Given the description of an element on the screen output the (x, y) to click on. 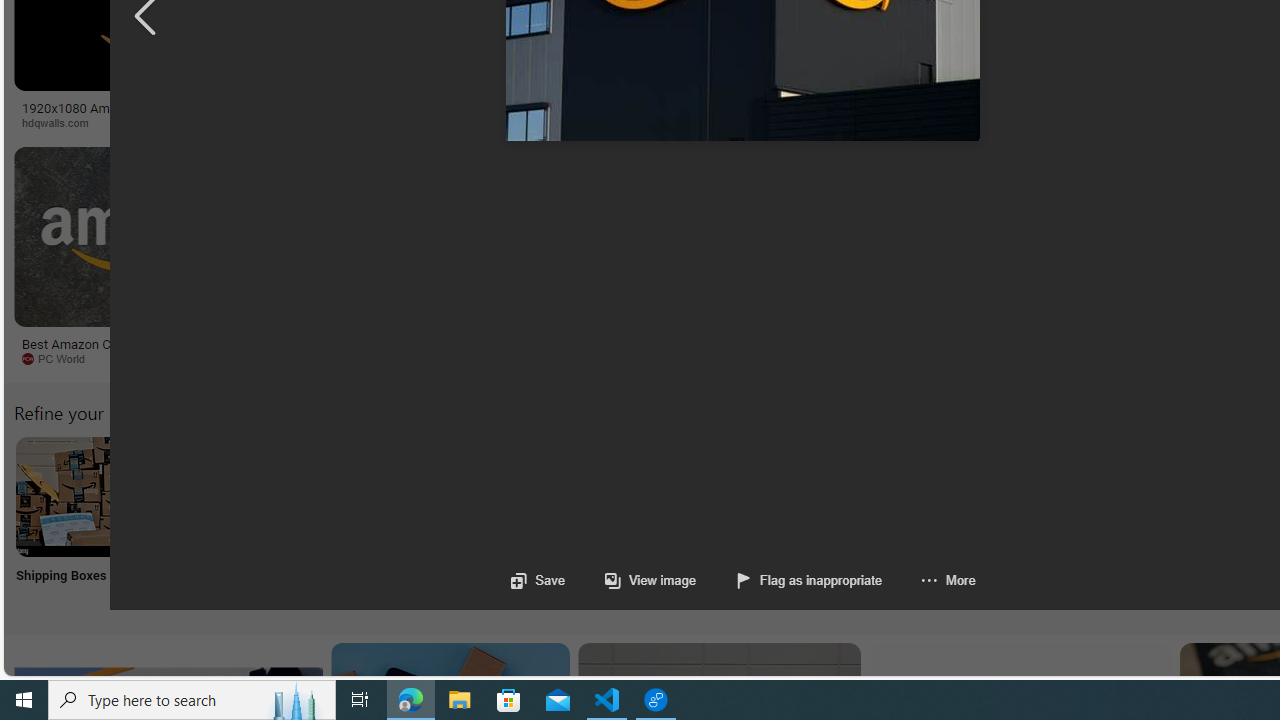
Save (537, 580)
aiophotoz.com (666, 359)
Retail Store (867, 521)
Image result for amazon (936, 236)
Shipping Boxes (74, 521)
Long Island Press (1105, 123)
Jobs Near Me (604, 521)
